Given the description of an element on the screen output the (x, y) to click on. 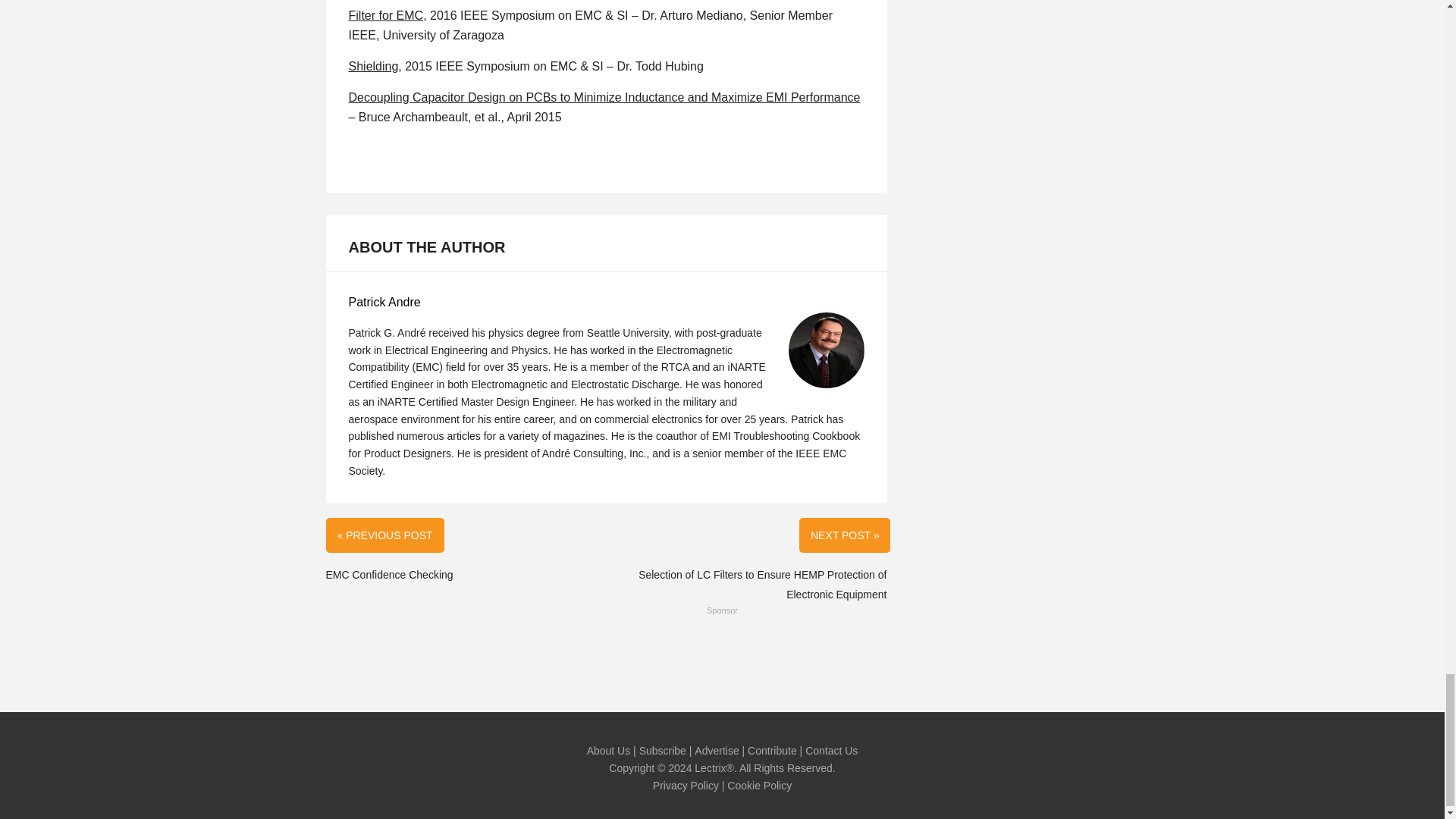
3rd party ad content (722, 654)
